Given the description of an element on the screen output the (x, y) to click on. 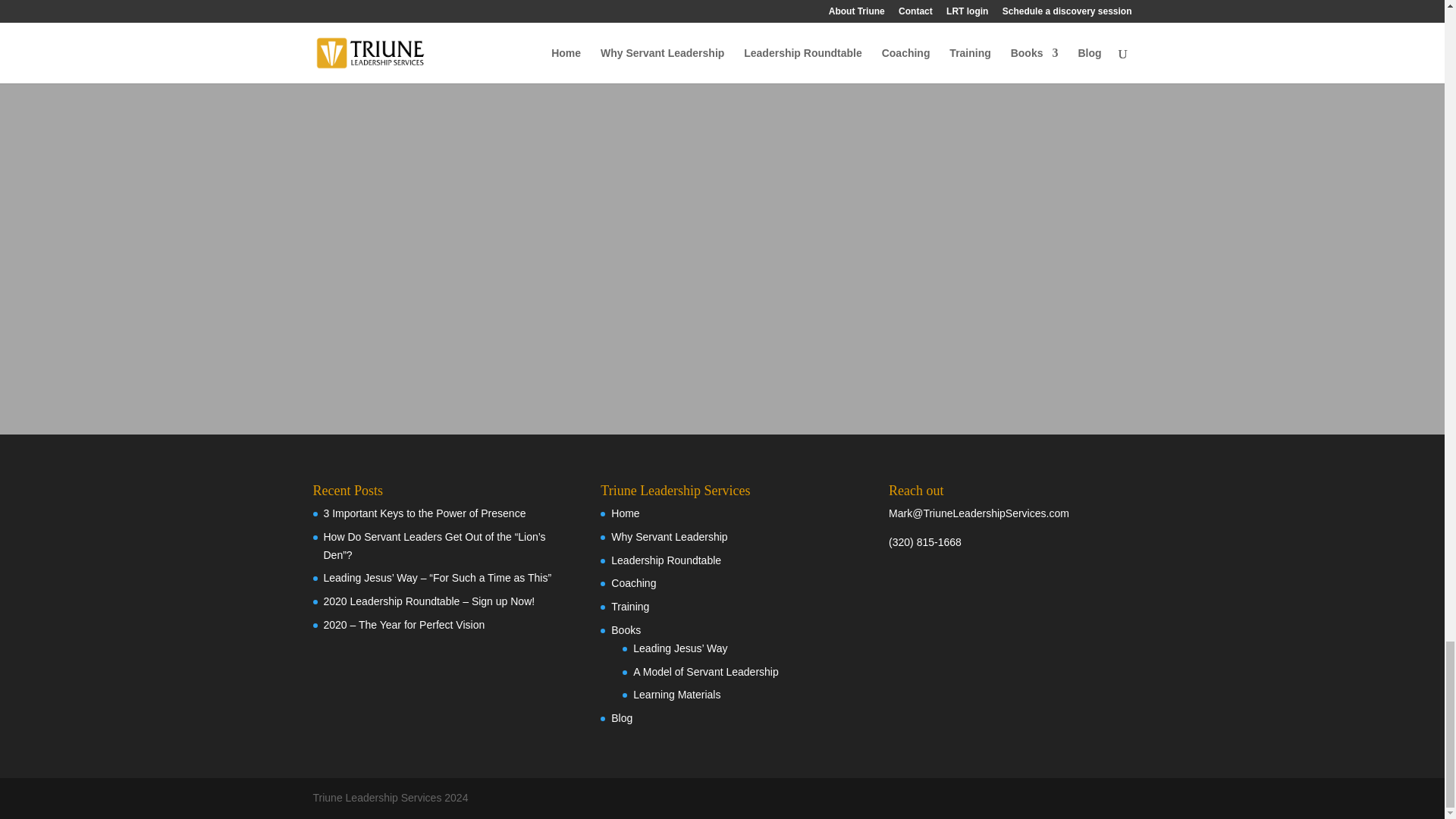
Leadership Roundtable (665, 560)
Home (625, 512)
Blog (621, 717)
Training (630, 606)
Coaching (633, 582)
A Model of Servant Leadership (705, 671)
Books (625, 630)
3 Important Keys to the Power of Presence (424, 512)
Why Servant Leadership (668, 536)
Learning Materials (676, 694)
